Given the description of an element on the screen output the (x, y) to click on. 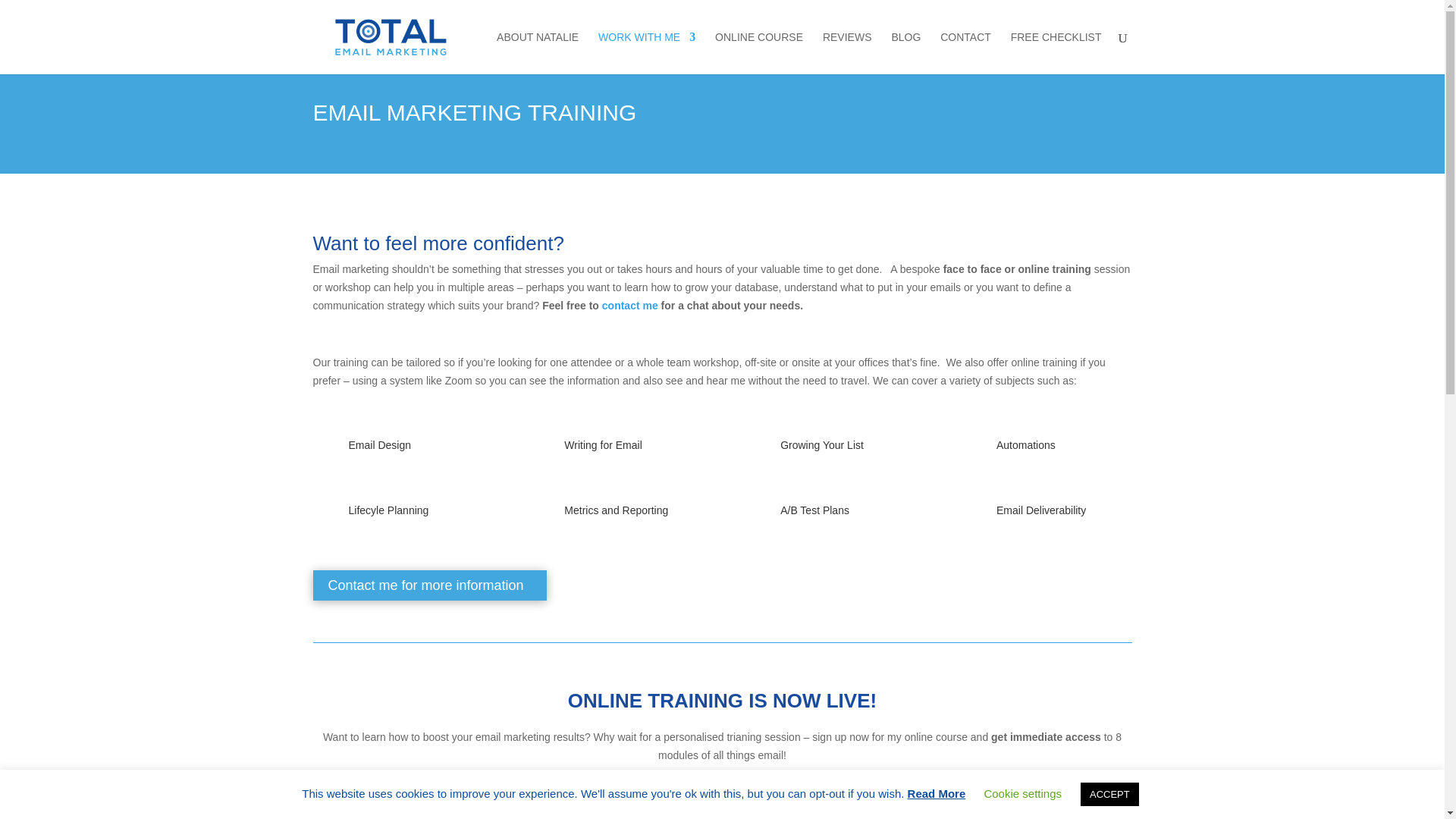
FREE CHECKLIST (1056, 52)
REVIEWS (847, 52)
CONTACT (965, 52)
Contact me for more information (429, 585)
ONLINE COURSE (758, 52)
contact me (630, 305)
WORK WITH ME (646, 52)
ABOUT NATALIE (537, 52)
